Given the description of an element on the screen output the (x, y) to click on. 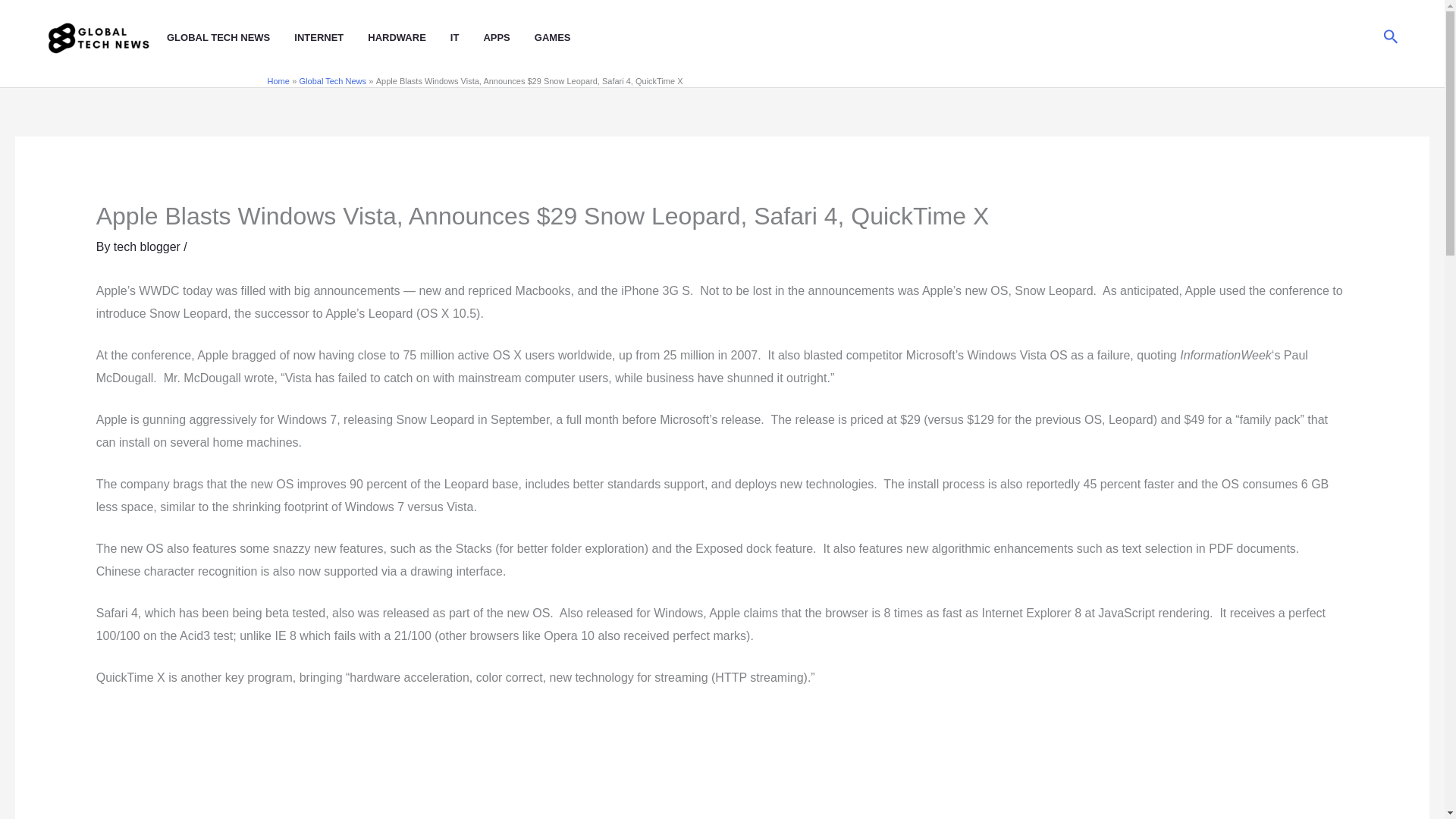
HARDWARE (408, 38)
tech blogger (148, 246)
Global Tech News (332, 80)
View all posts by tech blogger (148, 246)
INTERNET (331, 38)
GLOBAL TECH NEWS (230, 38)
Home (277, 80)
Advertisement (721, 764)
